Given the description of an element on the screen output the (x, y) to click on. 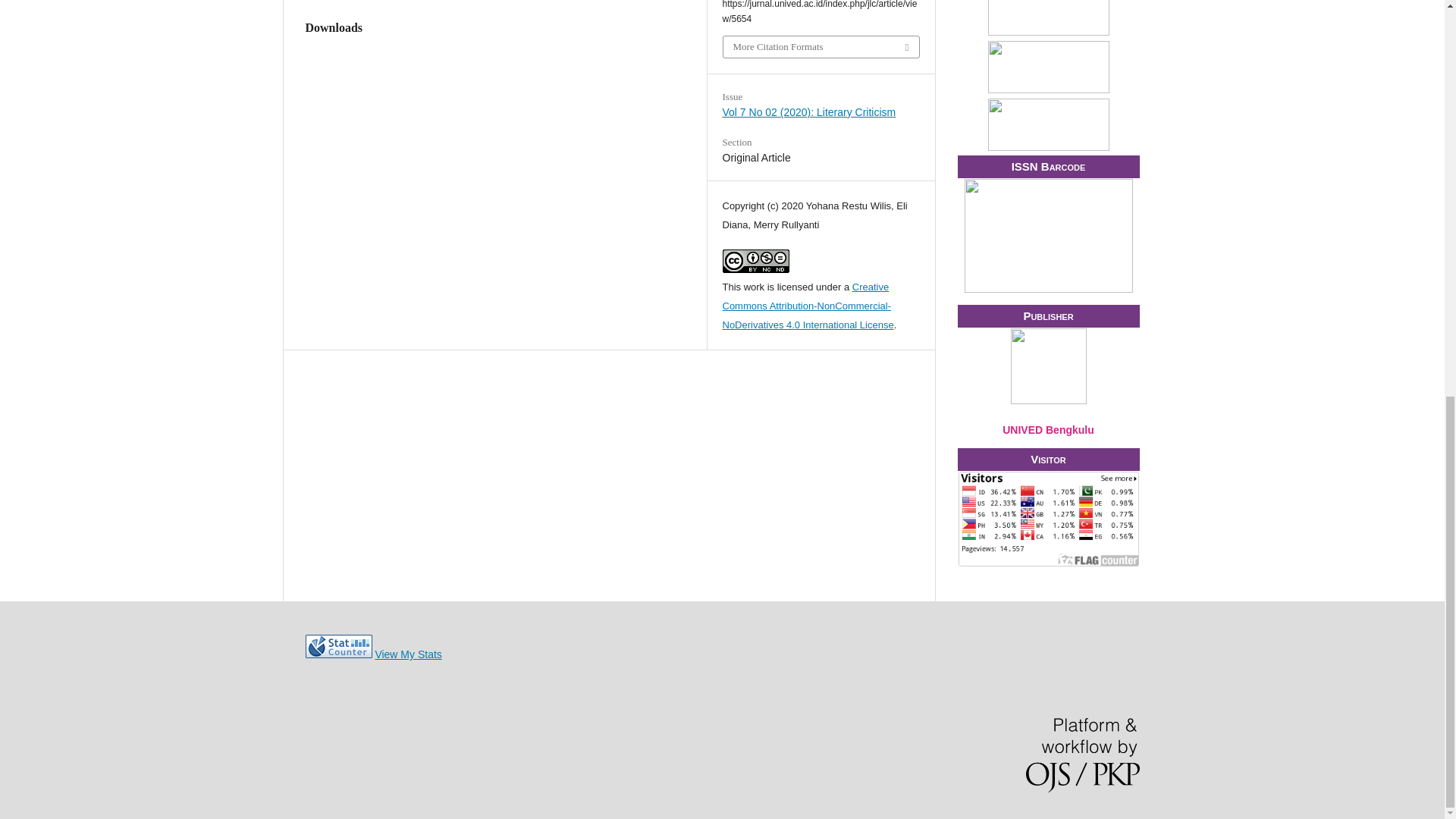
web stats (337, 654)
More Citation Formats (820, 46)
